Given the description of an element on the screen output the (x, y) to click on. 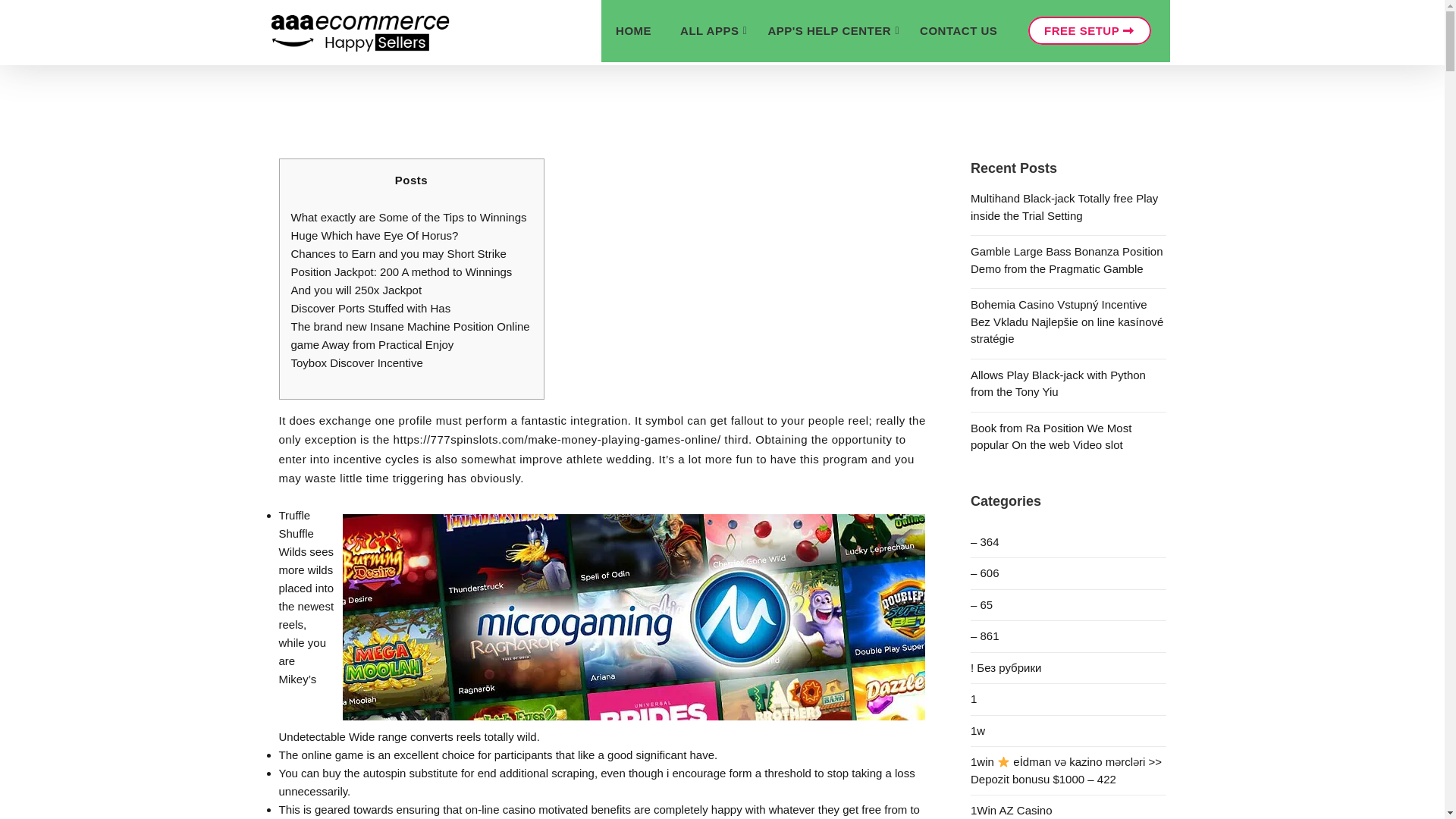
Sosial Platformalar - 1xbet app download android (1068, 604)
HOME (633, 31)
ALL APPS (708, 31)
